Given the description of an element on the screen output the (x, y) to click on. 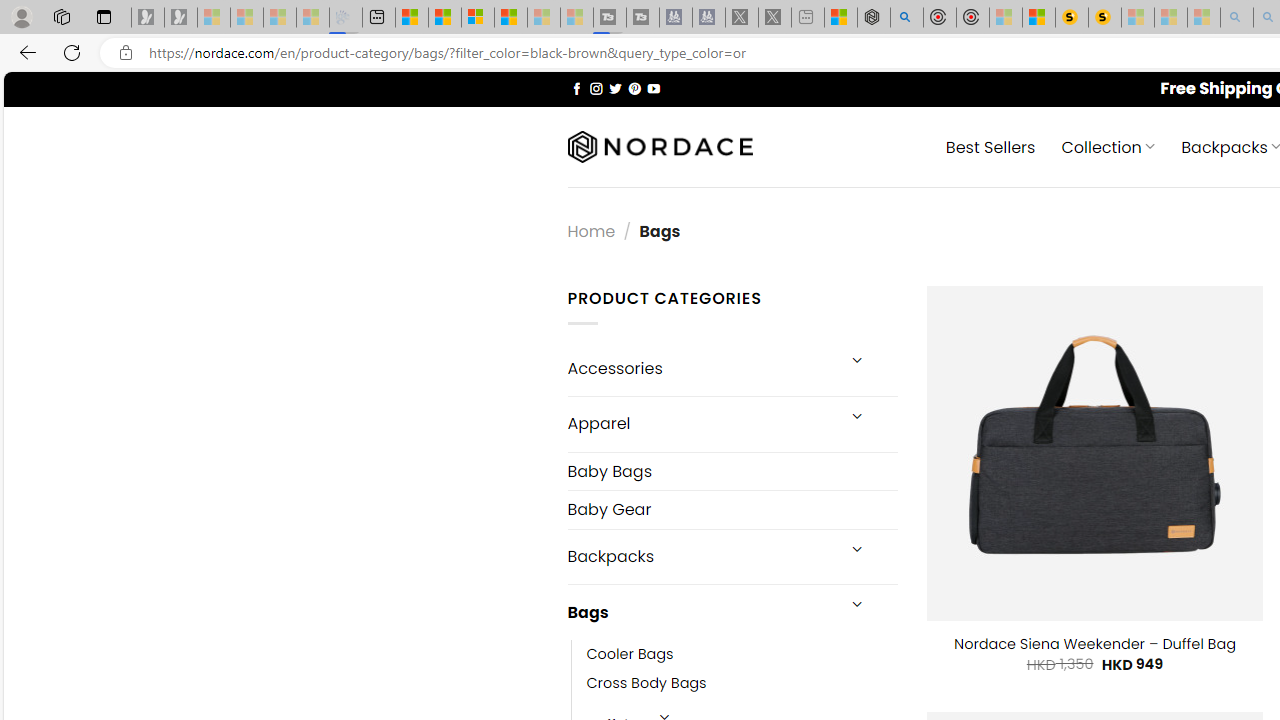
Baby Gear (732, 509)
Cross Body Bags (742, 683)
amazon - Search - Sleeping (1237, 17)
  Best Sellers (989, 146)
New tab - Sleeping (808, 17)
Backpacks (700, 556)
Newsletter Sign Up - Sleeping (181, 17)
Streaming Coverage | T3 - Sleeping (609, 17)
